Given the description of an element on the screen output the (x, y) to click on. 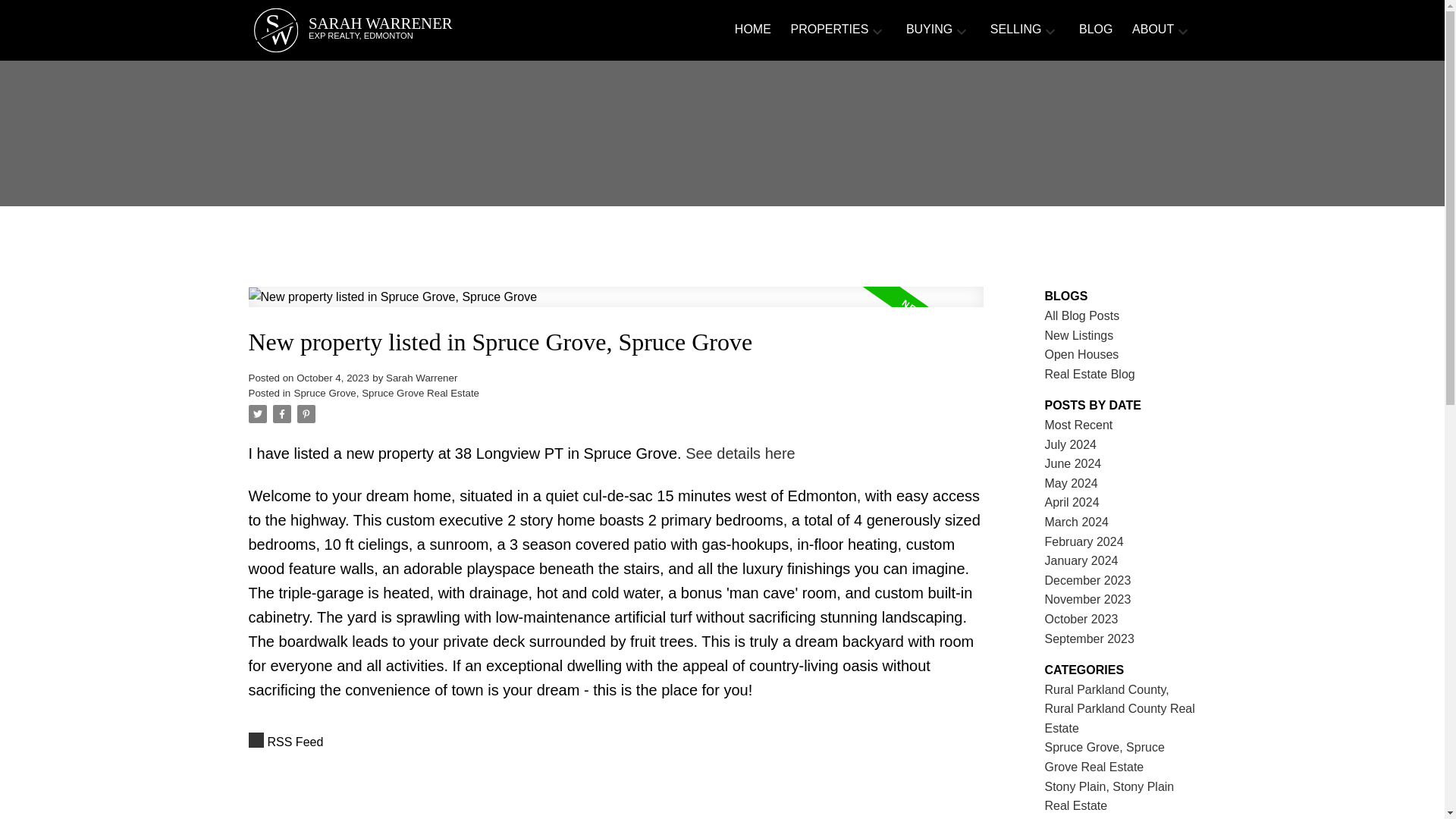
RSS (616, 742)
BUYING (928, 30)
PROPERTIES (828, 30)
BLOG (1095, 30)
Spruce Grove, Spruce Grove Real Estate (420, 30)
ABOUT (386, 392)
SELLING (1152, 30)
HOME (1016, 30)
